Given the description of an element on the screen output the (x, y) to click on. 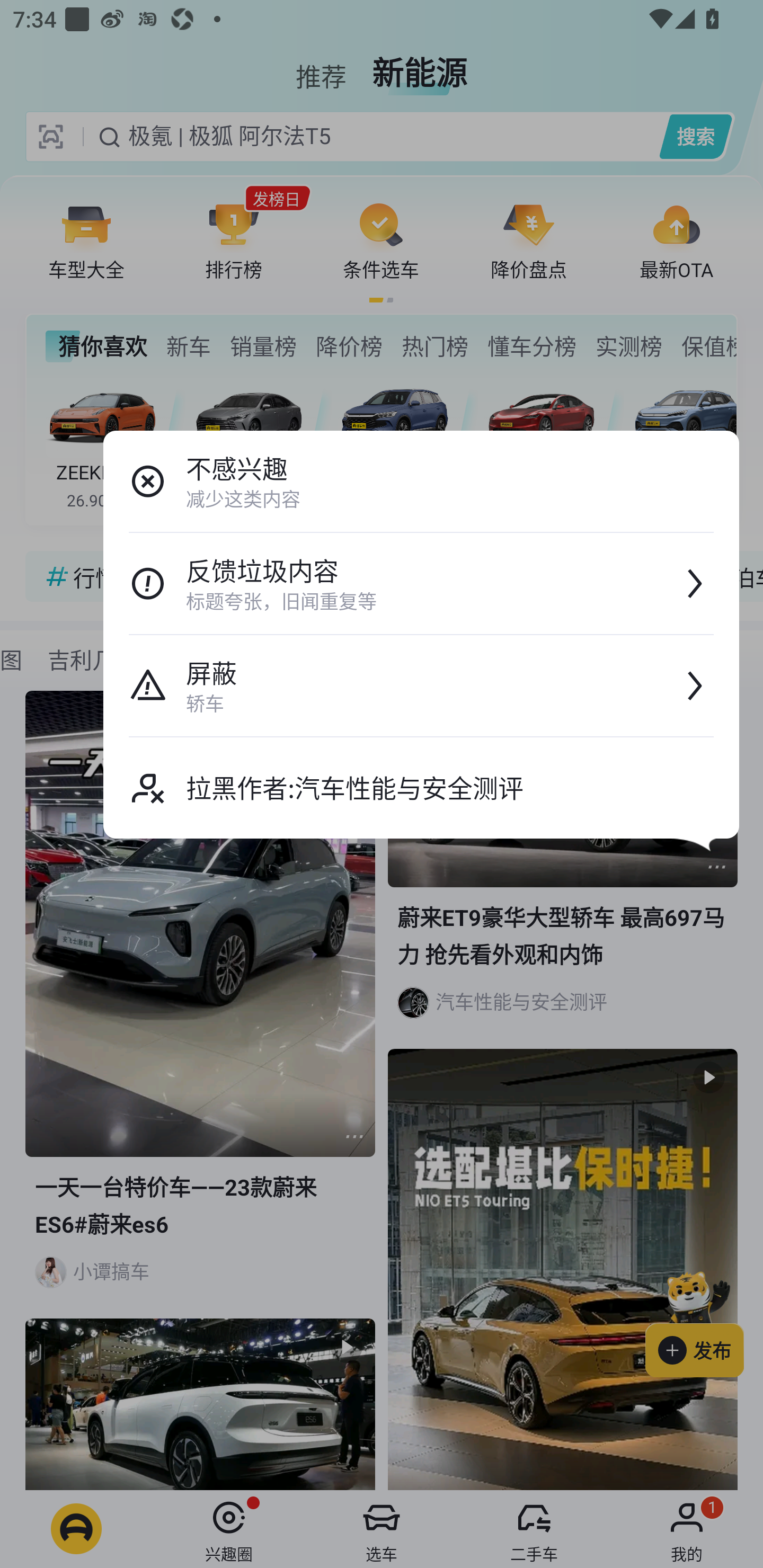
 不感兴趣 减少这类内容 (421, 481)
 反馈垃圾内容 标题夸张，旧闻重复等  (421, 583)
 屏蔽 轿车  (421, 685)
 拉黑作者:汽车性能与安全测评 (421, 787)
